Given the description of an element on the screen output the (x, y) to click on. 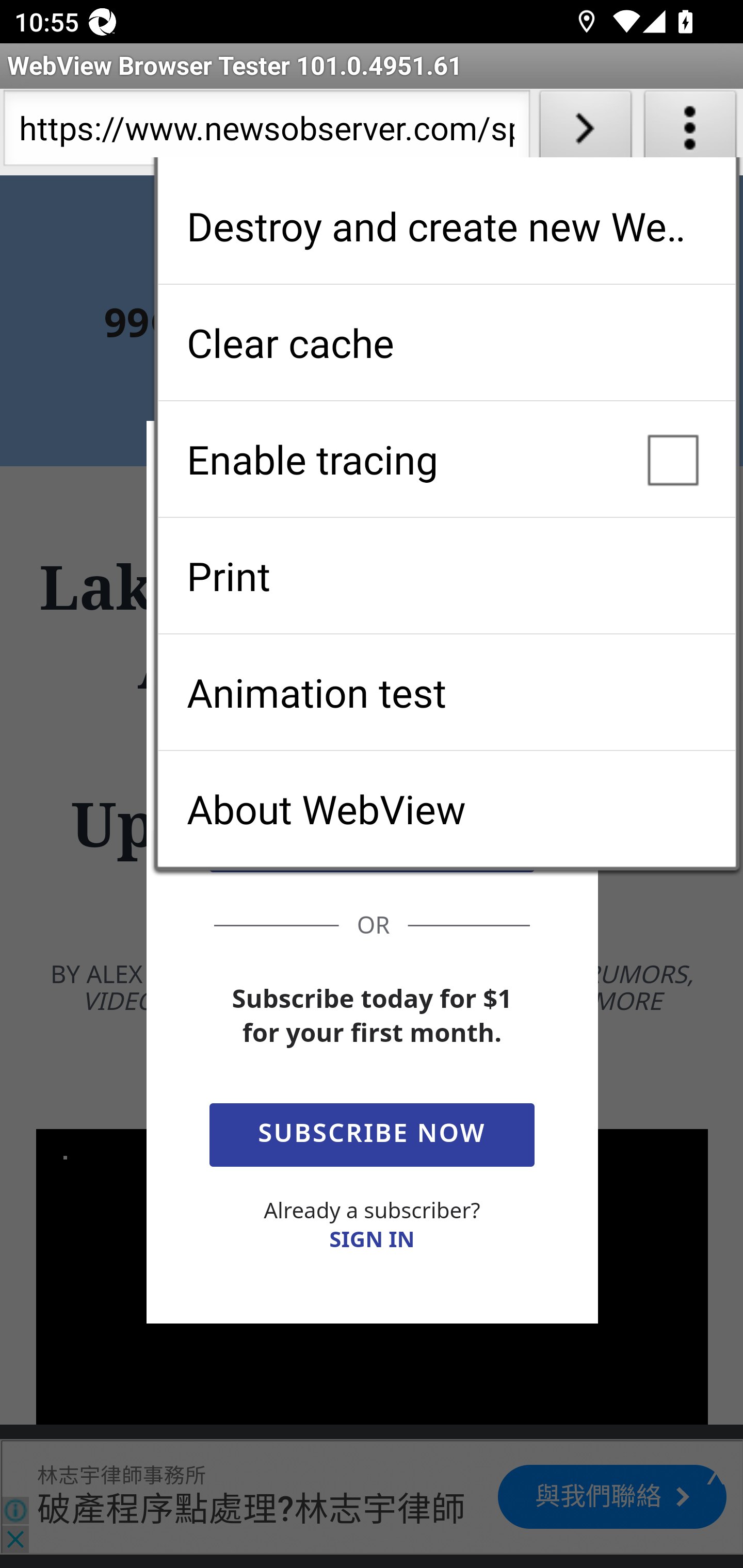
Destroy and create new WebView (446, 225)
Clear cache (446, 342)
Enable tracing (446, 459)
Print (446, 575)
Animation test (446, 692)
About WebView (446, 809)
